Given the description of an element on the screen output the (x, y) to click on. 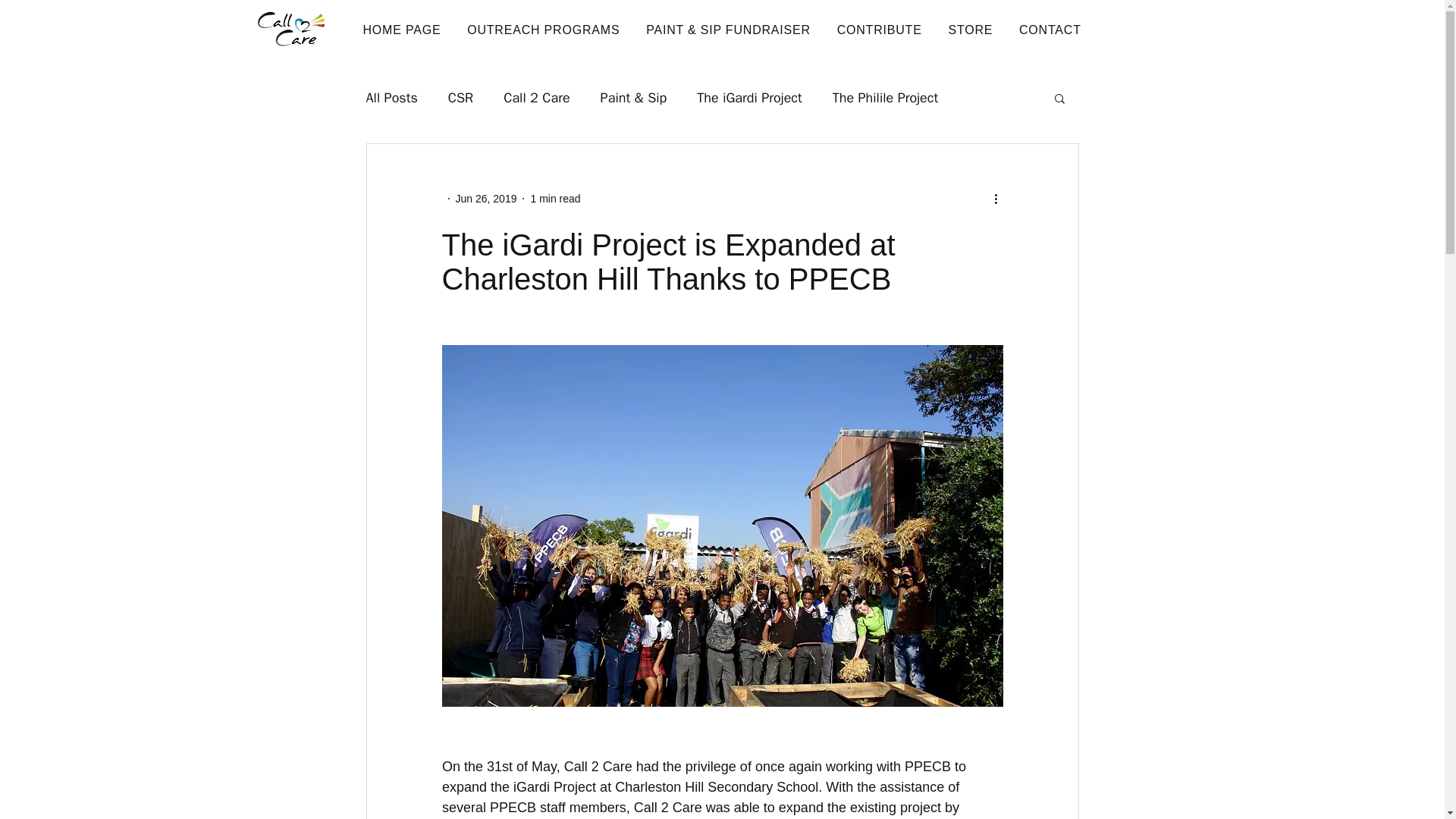
STORE (973, 30)
CONTRIBUTE (881, 30)
The iGardi Project (749, 97)
CSR (460, 97)
Jun 26, 2019 (485, 198)
All Posts (390, 97)
1 min read (554, 198)
HOME PAGE (403, 30)
The Philile Project (884, 97)
Call 2 Care (536, 97)
